Given the description of an element on the screen output the (x, y) to click on. 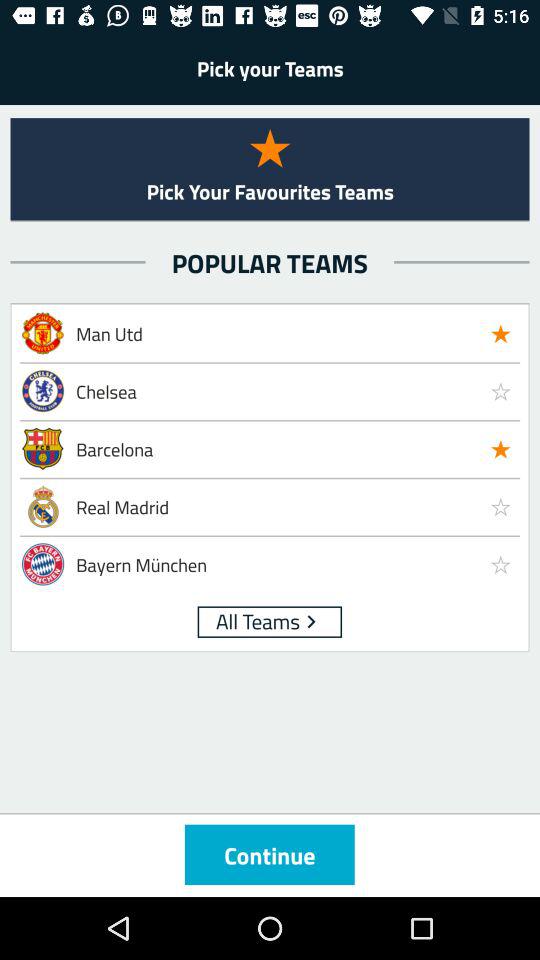
turn off the all teams item (258, 620)
